Given the description of an element on the screen output the (x, y) to click on. 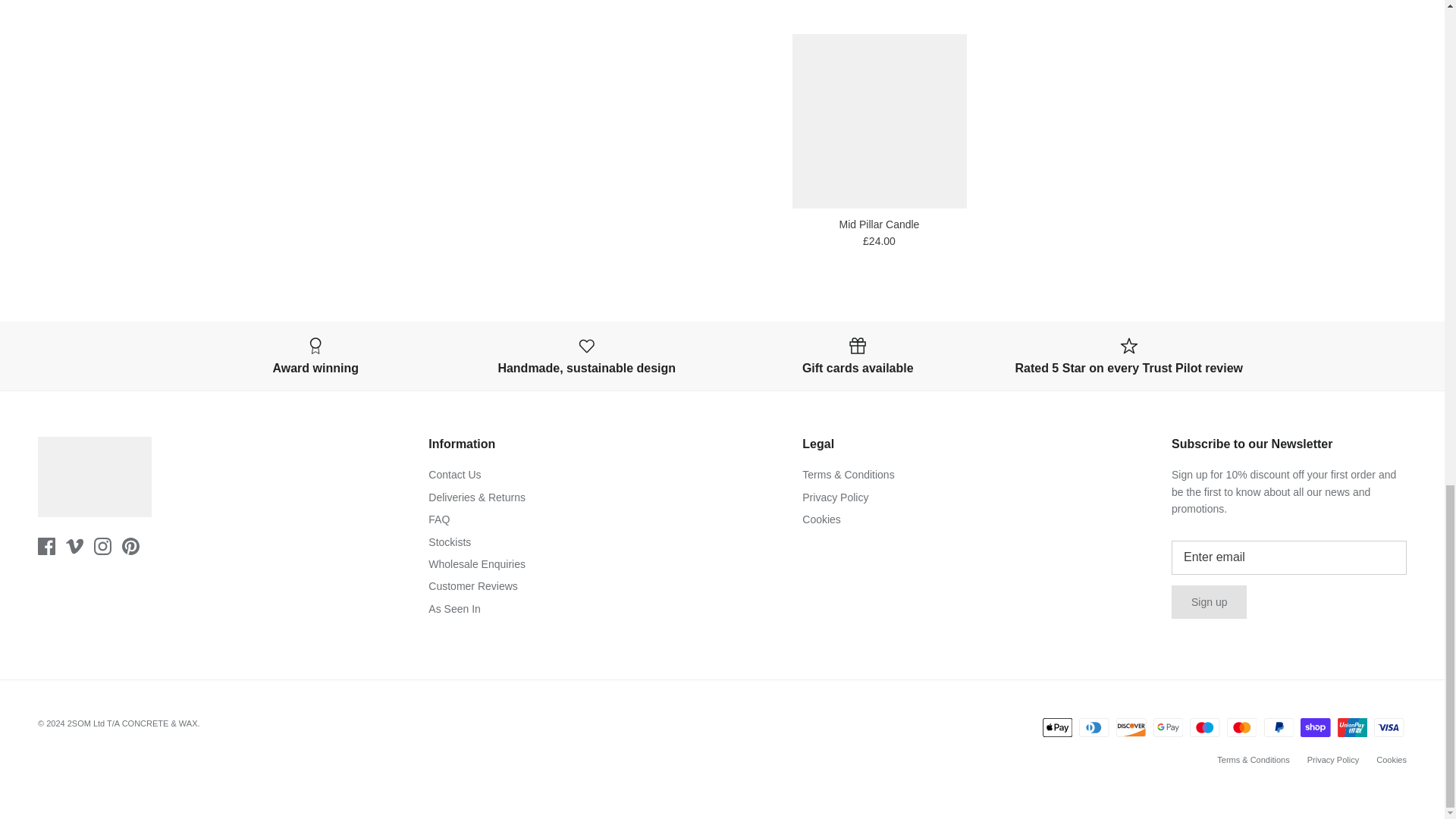
Facebook (46, 546)
